Given the description of an element on the screen output the (x, y) to click on. 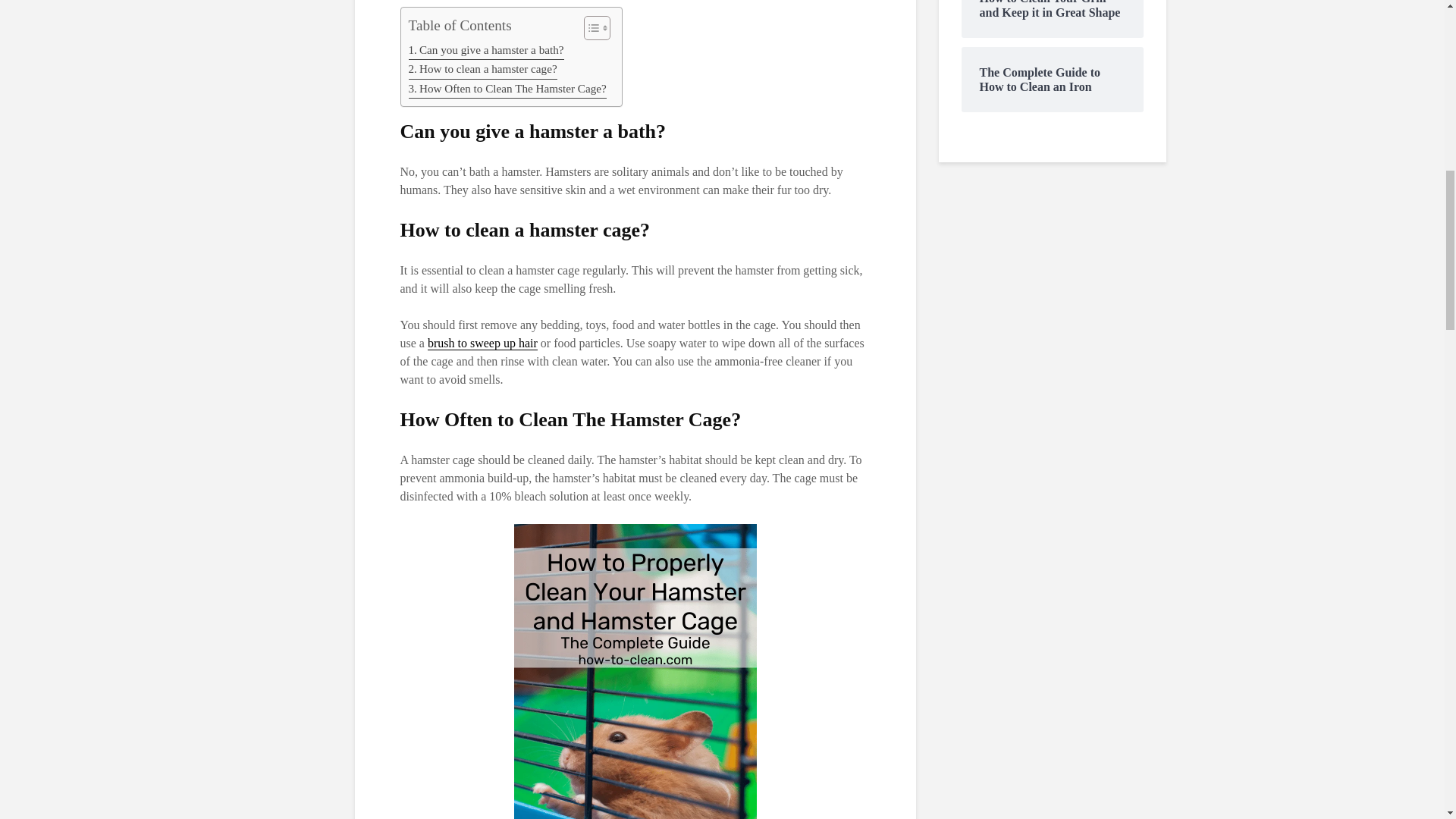
brush to sweep up hair (482, 343)
Can you give a hamster a bath? (485, 49)
How to clean a hamster cage? (481, 68)
How Often to Clean The Hamster Cage? (506, 88)
How Often to Clean The Hamster Cage? (506, 88)
How to clean a hamster cage? (481, 68)
Can you give a hamster a bath? (485, 49)
